Given the description of an element on the screen output the (x, y) to click on. 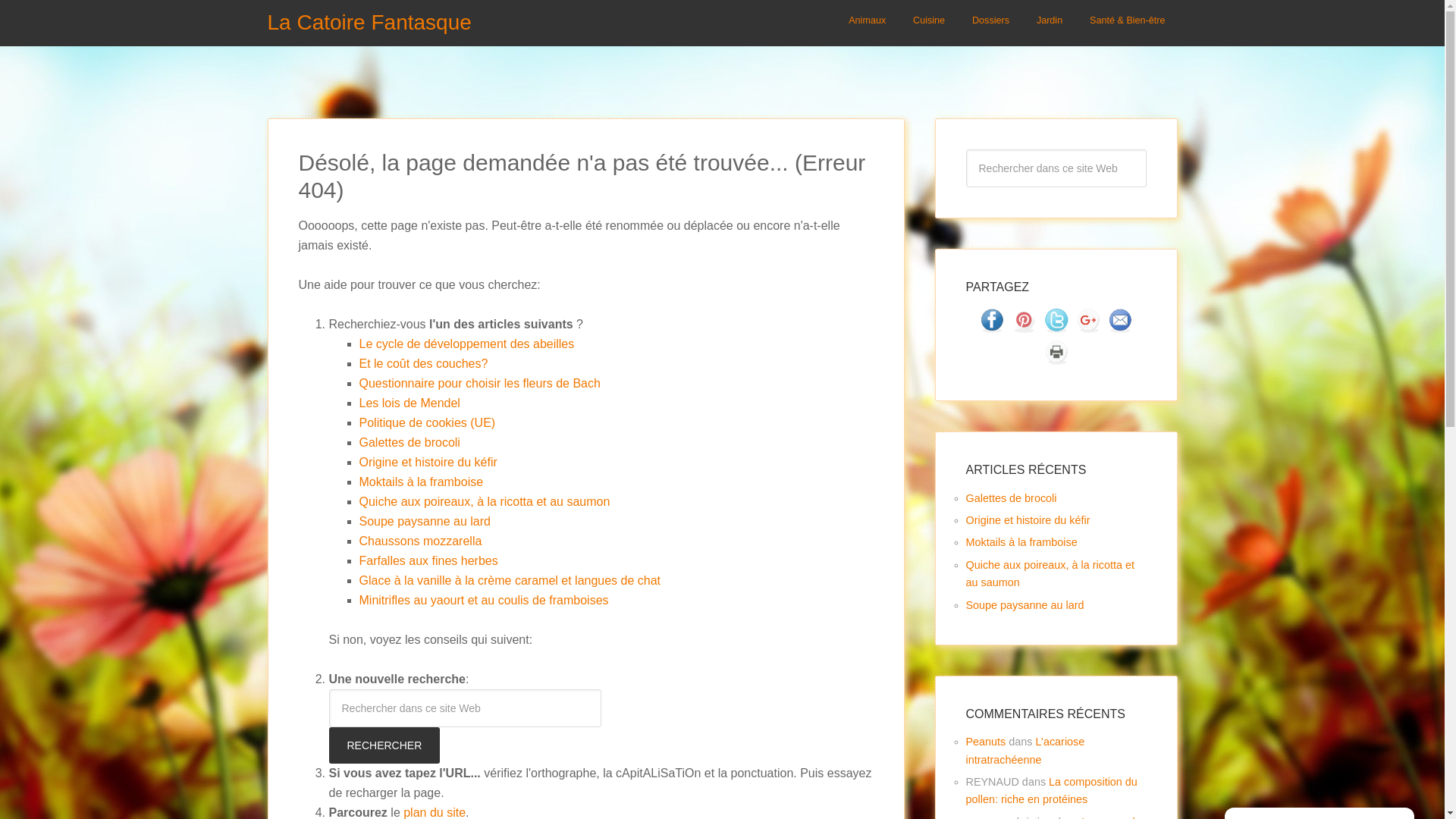
Galettes de brocoli Element type: text (409, 442)
Rechercher Element type: text (1145, 148)
Politique de cookies (UE) Element type: text (427, 422)
Email Element type: hover (1119, 327)
Soupe paysanne au lard Element type: text (424, 520)
Farfalles aux fines herbes Element type: text (428, 560)
Galettes de brocoli Element type: text (1011, 498)
Facebook Element type: hover (991, 327)
Animaux Element type: text (866, 22)
Soupe paysanne au lard Element type: text (1025, 605)
Imprimer Element type: hover (1055, 359)
Rechercher Element type: text (384, 745)
Jardin Element type: text (1049, 22)
Pinterest Element type: hover (1023, 327)
Peanuts Element type: text (986, 741)
Minitrifles au yaourt et au coulis de framboises Element type: text (483, 599)
Cuisine Element type: text (928, 22)
La Catoire Fantasque Element type: text (368, 22)
Chaussons mozzarella Element type: text (420, 540)
Dossiers Element type: text (990, 22)
Twitter Element type: hover (1055, 327)
Google Element type: hover (1087, 327)
Questionnaire pour choisir les fleurs de Bach Element type: text (479, 382)
Les lois de Mendel Element type: text (409, 402)
